Given the description of an element on the screen output the (x, y) to click on. 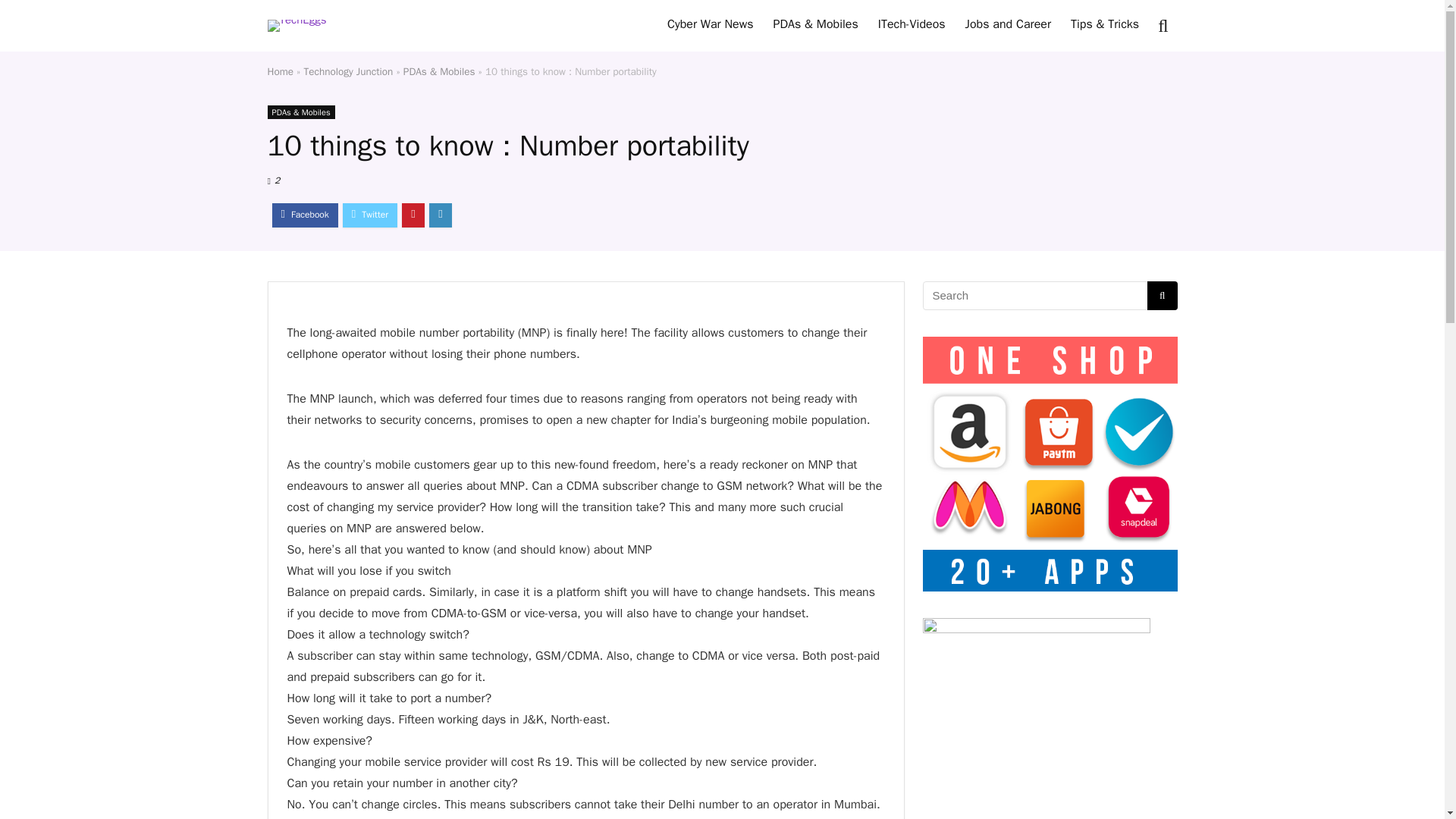
Technology Junction (348, 71)
Cyber War News (710, 25)
ITech-Videos (911, 25)
Home (280, 71)
Jobs and Career (1008, 25)
